Given the description of an element on the screen output the (x, y) to click on. 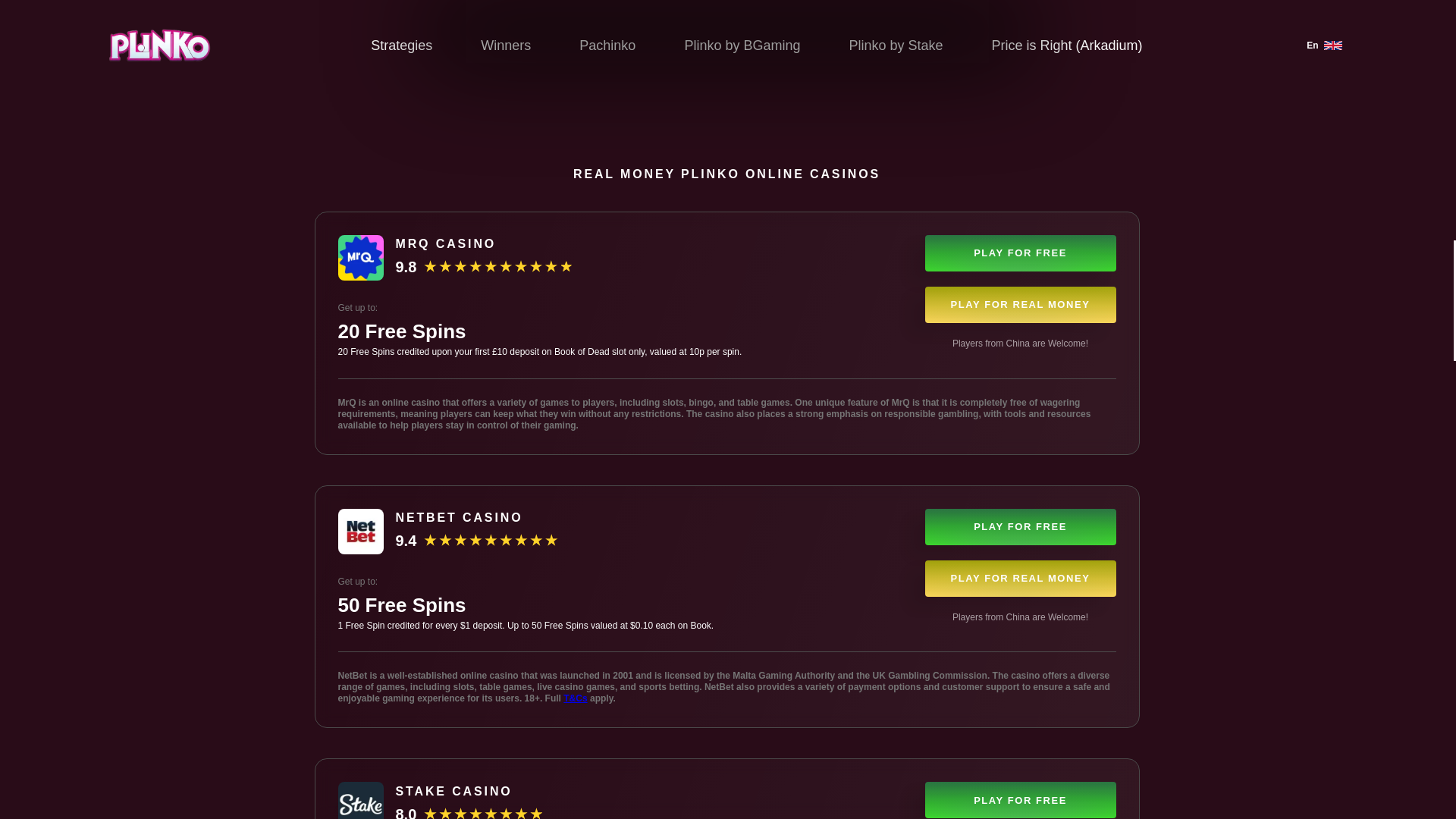
PLAY FOR FREE (1020, 526)
Stake Casino Logo (360, 800)
PLAY FOR FREE (1020, 800)
PLAY FOR REAL MONEY (1020, 578)
NetBet Casino (360, 531)
MrQ Casino (360, 257)
PLAY FOR REAL MONEY (1020, 304)
PLAY FOR FREE (1020, 253)
